Given the description of an element on the screen output the (x, y) to click on. 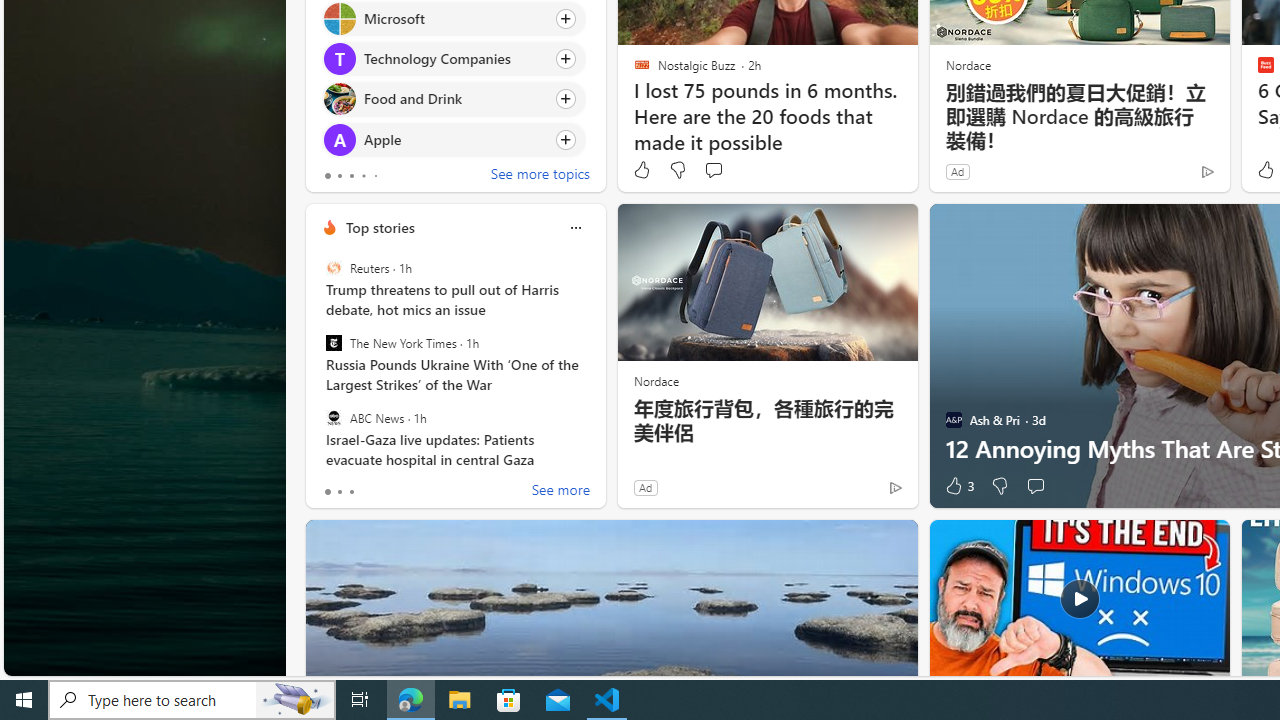
Start the conversation (1035, 485)
tab-4 (374, 175)
tab-1 (338, 491)
Start the conversation (1035, 485)
ABC News (333, 417)
Food and Drink (338, 98)
Class: icon-img (575, 228)
Ad Choice (895, 487)
Click to follow topic Microsoft (453, 18)
tab-0 (327, 491)
